Given the description of an element on the screen output the (x, y) to click on. 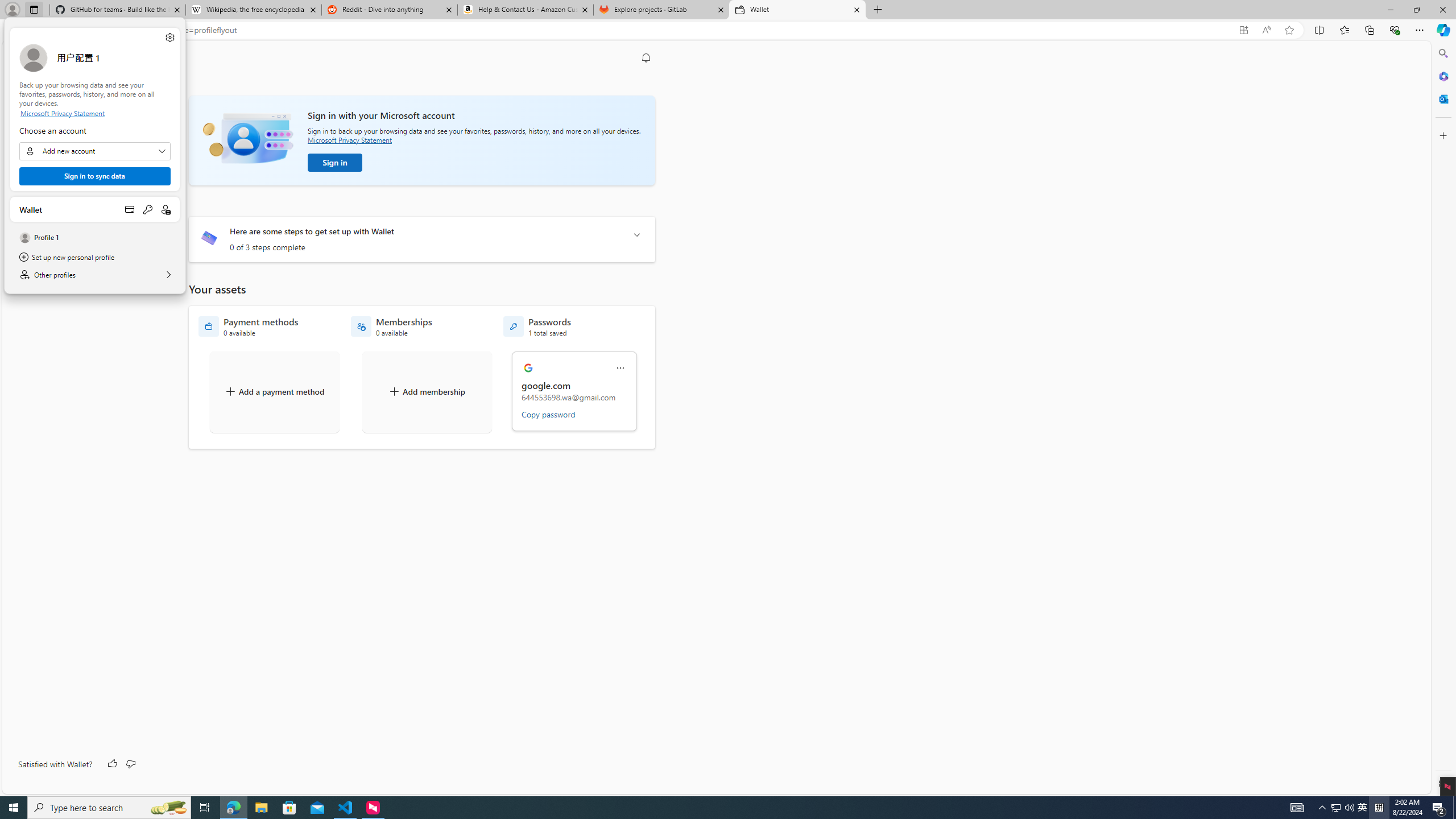
Open payment methods (1335, 807)
Manage profile settings (129, 208)
More actions (169, 37)
User Promoted Notification Area (619, 368)
Add membership (1342, 807)
Sign in to sync data (427, 391)
Wallet (94, 176)
AutomationID: 4105 (94, 208)
Choose an account (1297, 807)
Notification Chevron (94, 151)
More actions google.com 644553698.wa@gmail.com Copy password (1322, 807)
Visual Studio Code - 1 running window (574, 391)
